Given the description of an element on the screen output the (x, y) to click on. 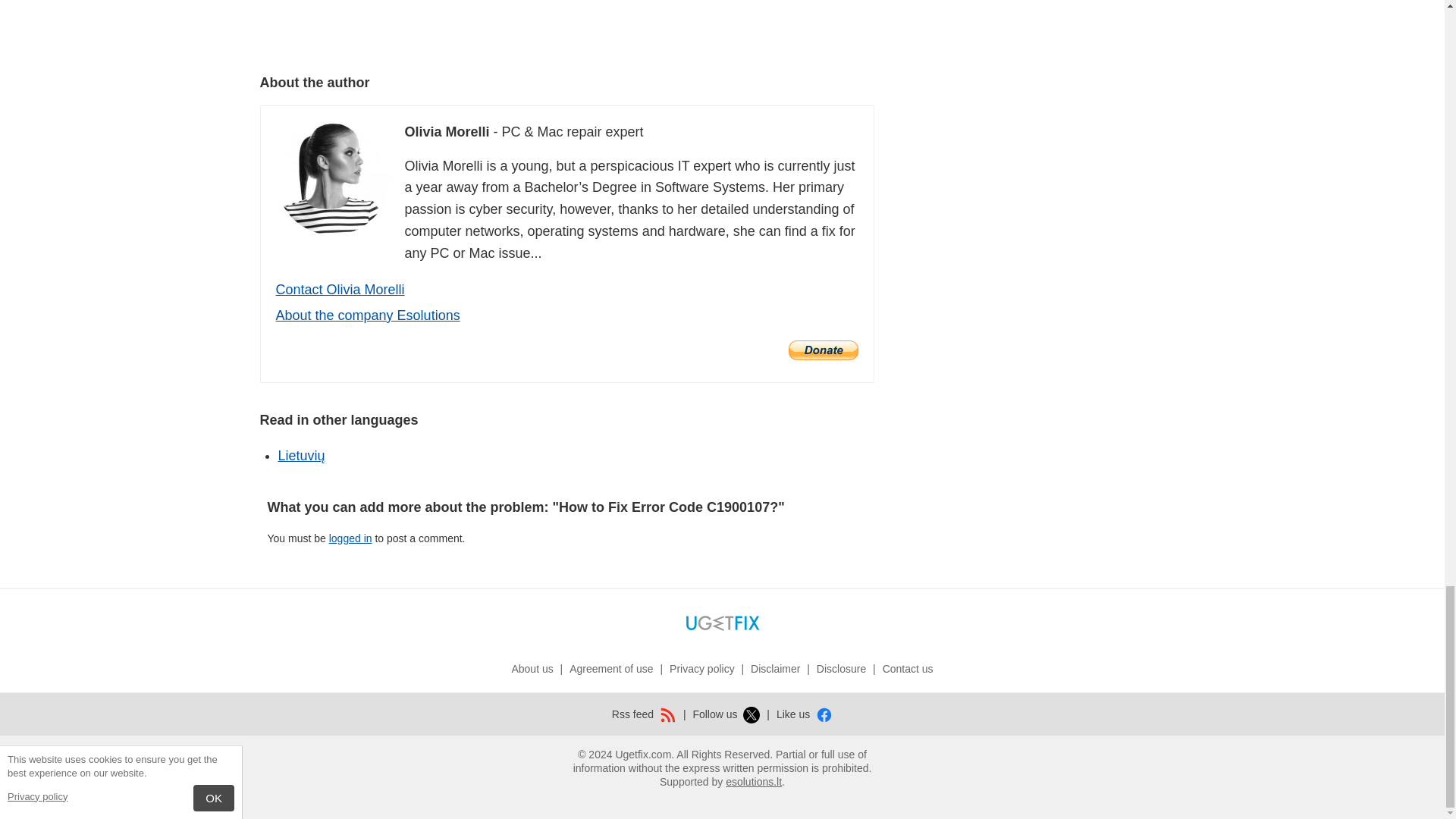
Contact Olivia Morelli (340, 289)
PayPal - The safer, easier way to pay online! (824, 350)
Olivia Morelli (333, 178)
About the company Esolutions (368, 314)
logged in (350, 538)
